Given the description of an element on the screen output the (x, y) to click on. 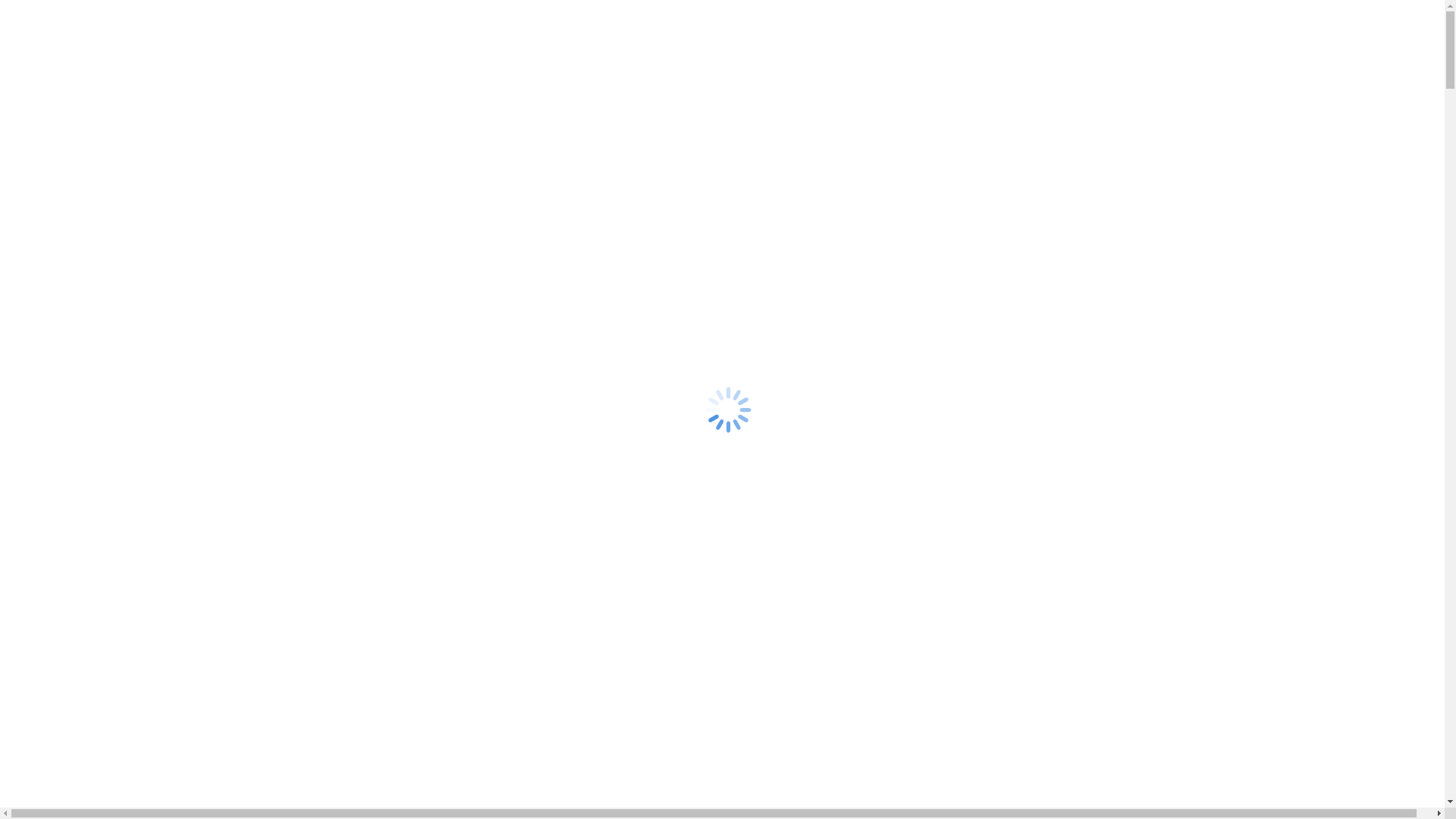
Industries Element type: text (60, 130)
Skip to content Element type: text (5, 5)
Join Us Element type: text (54, 251)
24hr 1300 736 596 Element type: text (51, 12)
Home Element type: text (50, 103)
Industries Element type: text (60, 224)
Contact Us Element type: text (63, 171)
Services Element type: text (56, 144)
Services Element type: text (56, 238)
About Element type: text (51, 210)
Join Us Element type: text (54, 157)
About Element type: text (51, 116)
Contact Us Element type: text (63, 265)
Home Element type: text (50, 197)
